Given the description of an element on the screen output the (x, y) to click on. 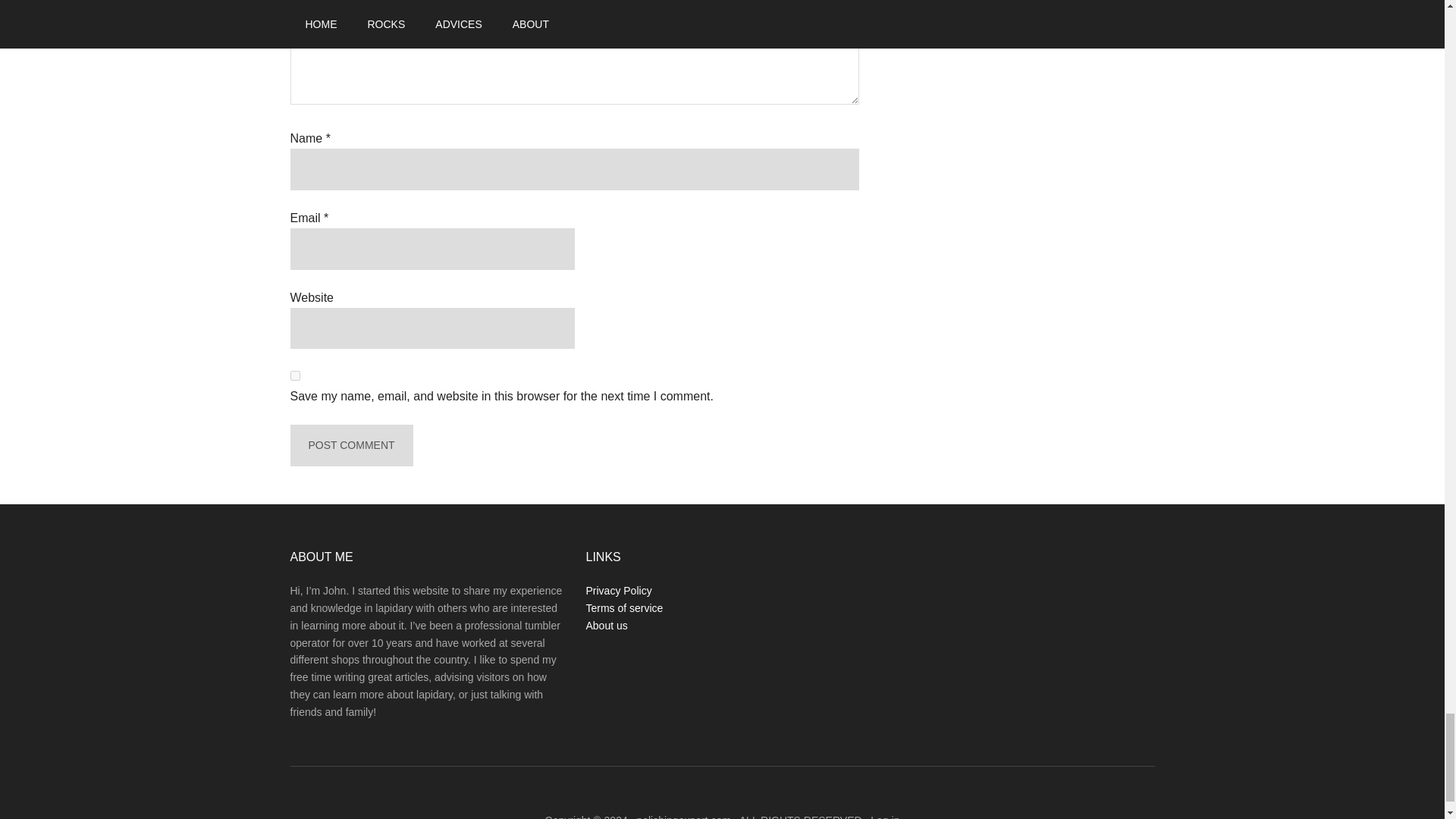
yes (294, 375)
Post Comment (350, 445)
